Given the description of an element on the screen output the (x, y) to click on. 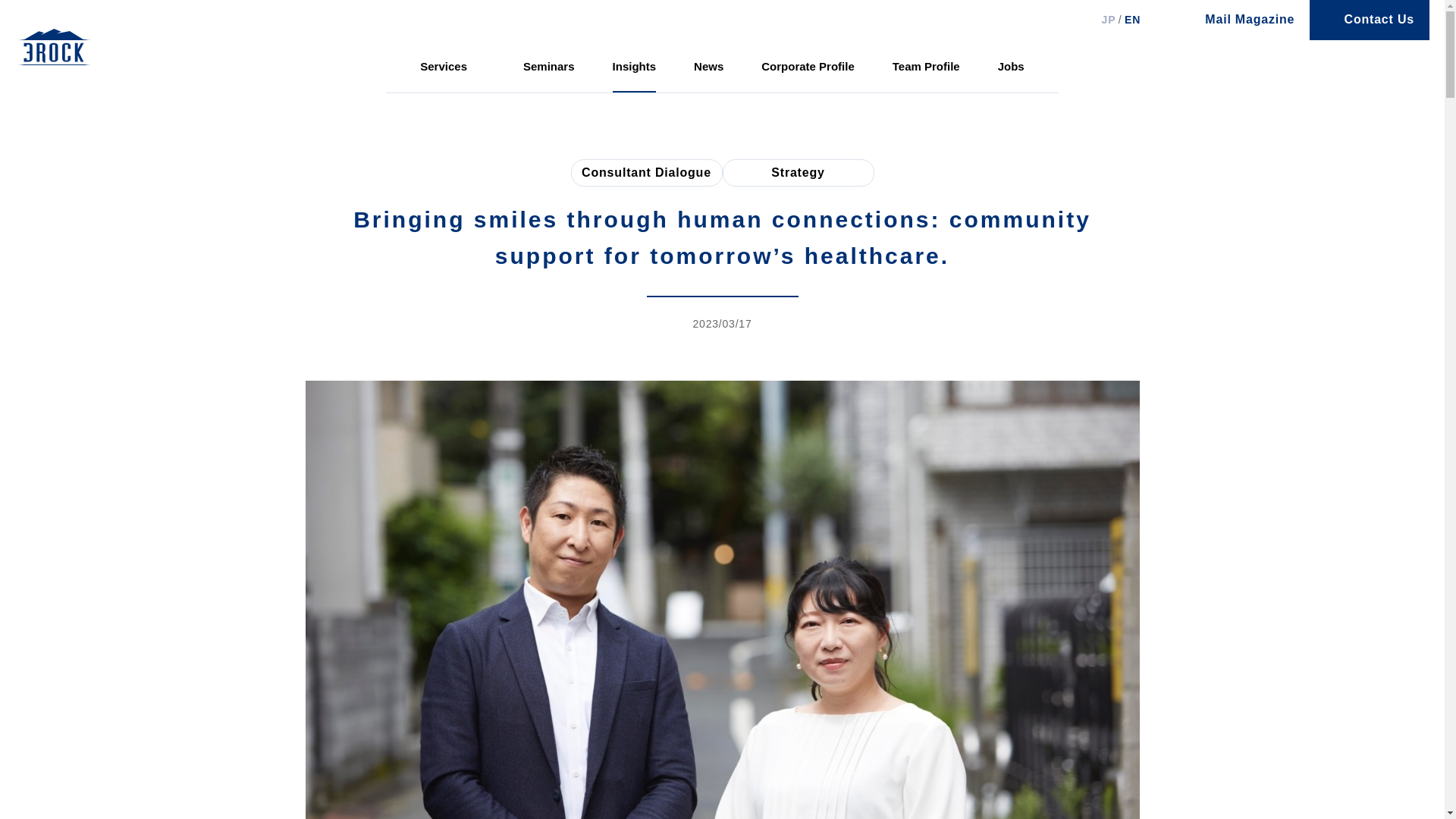
Corporate Profile (807, 67)
Seminars (548, 67)
Contact Us (1368, 20)
Mail Magazine (1239, 20)
Team Profile (925, 67)
